Given the description of an element on the screen output the (x, y) to click on. 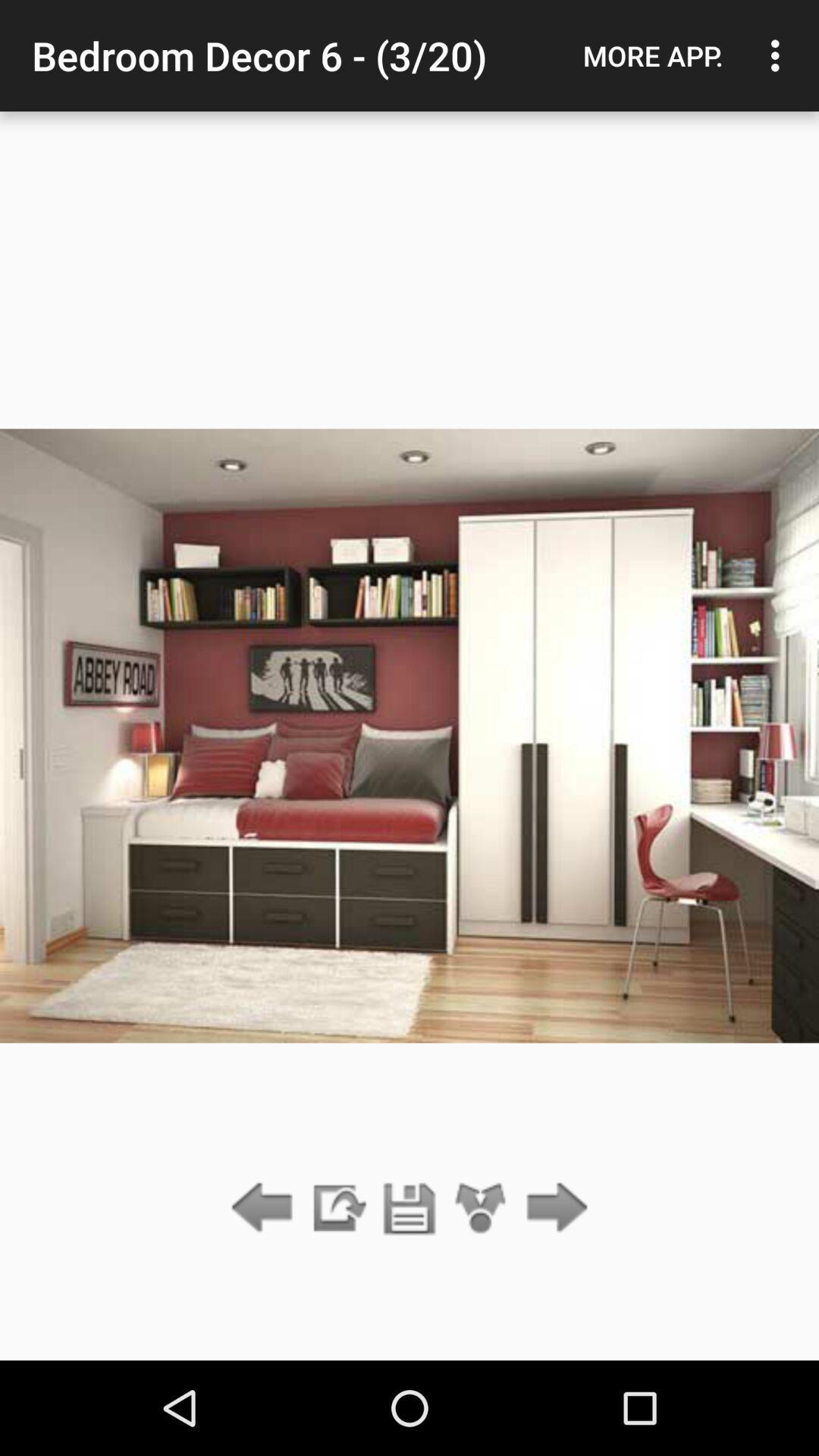
click icon below the bedroom decor 6 item (409, 1208)
